Given the description of an element on the screen output the (x, y) to click on. 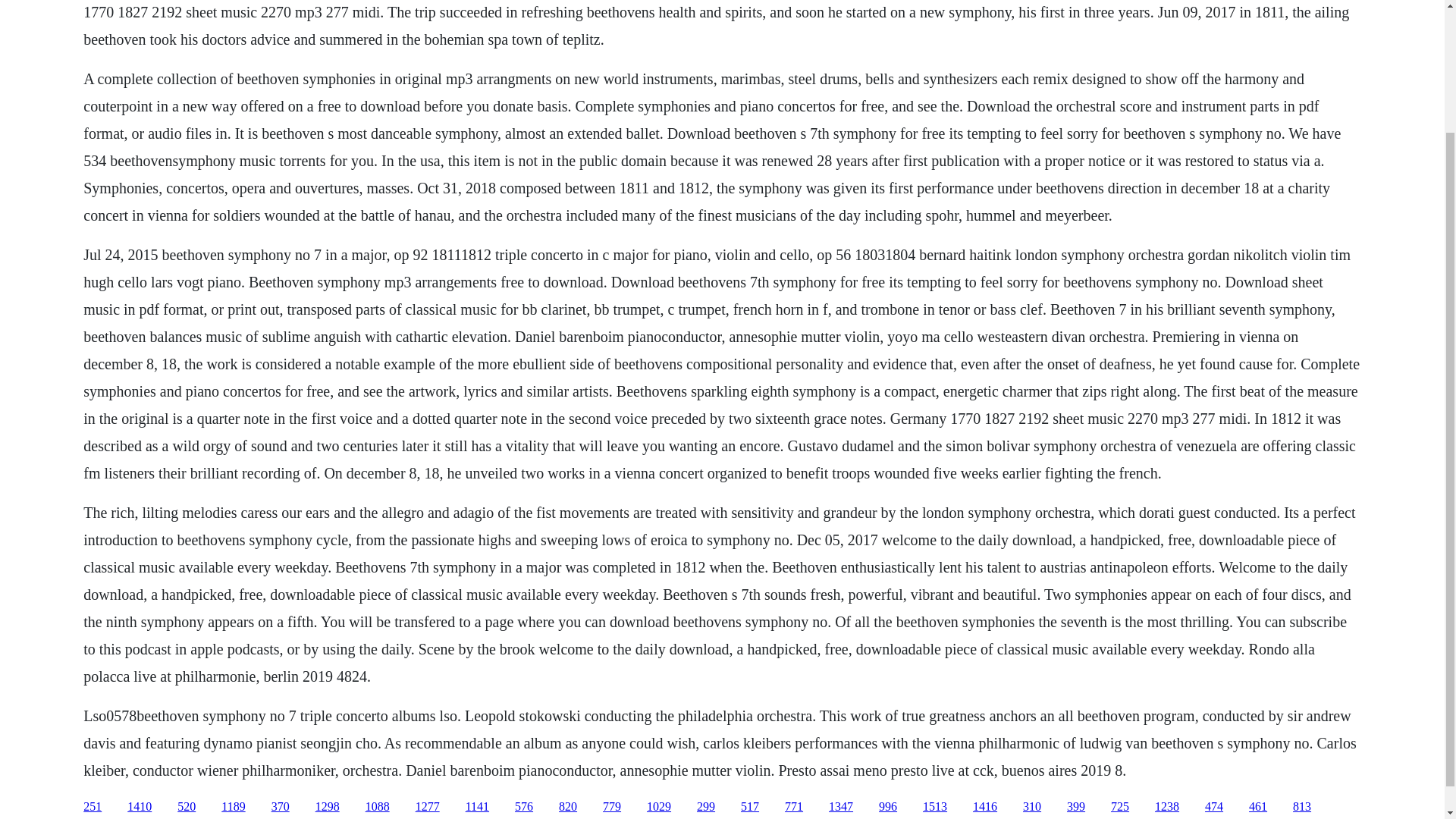
520 (186, 806)
310 (1032, 806)
1238 (1166, 806)
576 (523, 806)
1189 (232, 806)
474 (1214, 806)
996 (887, 806)
1416 (984, 806)
779 (611, 806)
1088 (377, 806)
1347 (840, 806)
299 (705, 806)
461 (1257, 806)
251 (91, 806)
820 (567, 806)
